Given the description of an element on the screen output the (x, y) to click on. 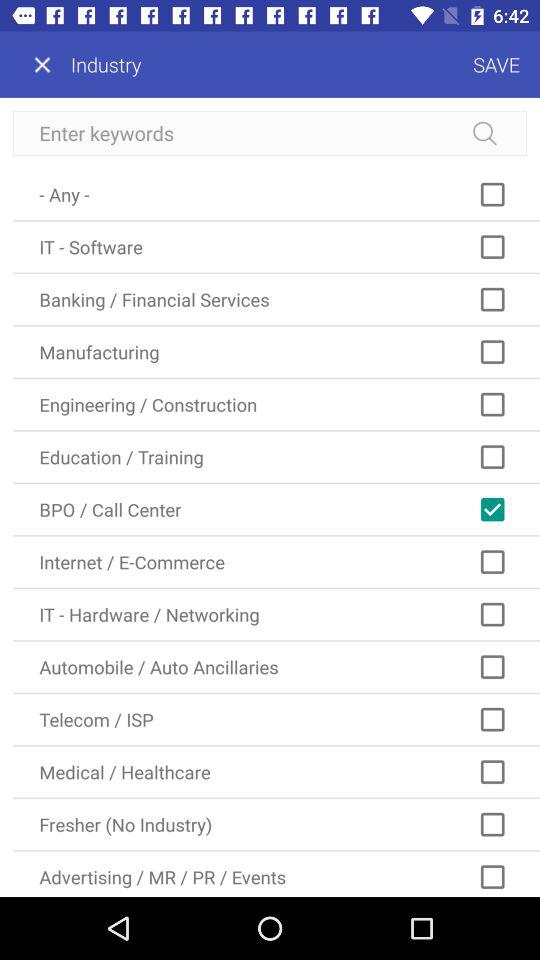
flip until the medical / healthcare (276, 771)
